Given the description of an element on the screen output the (x, y) to click on. 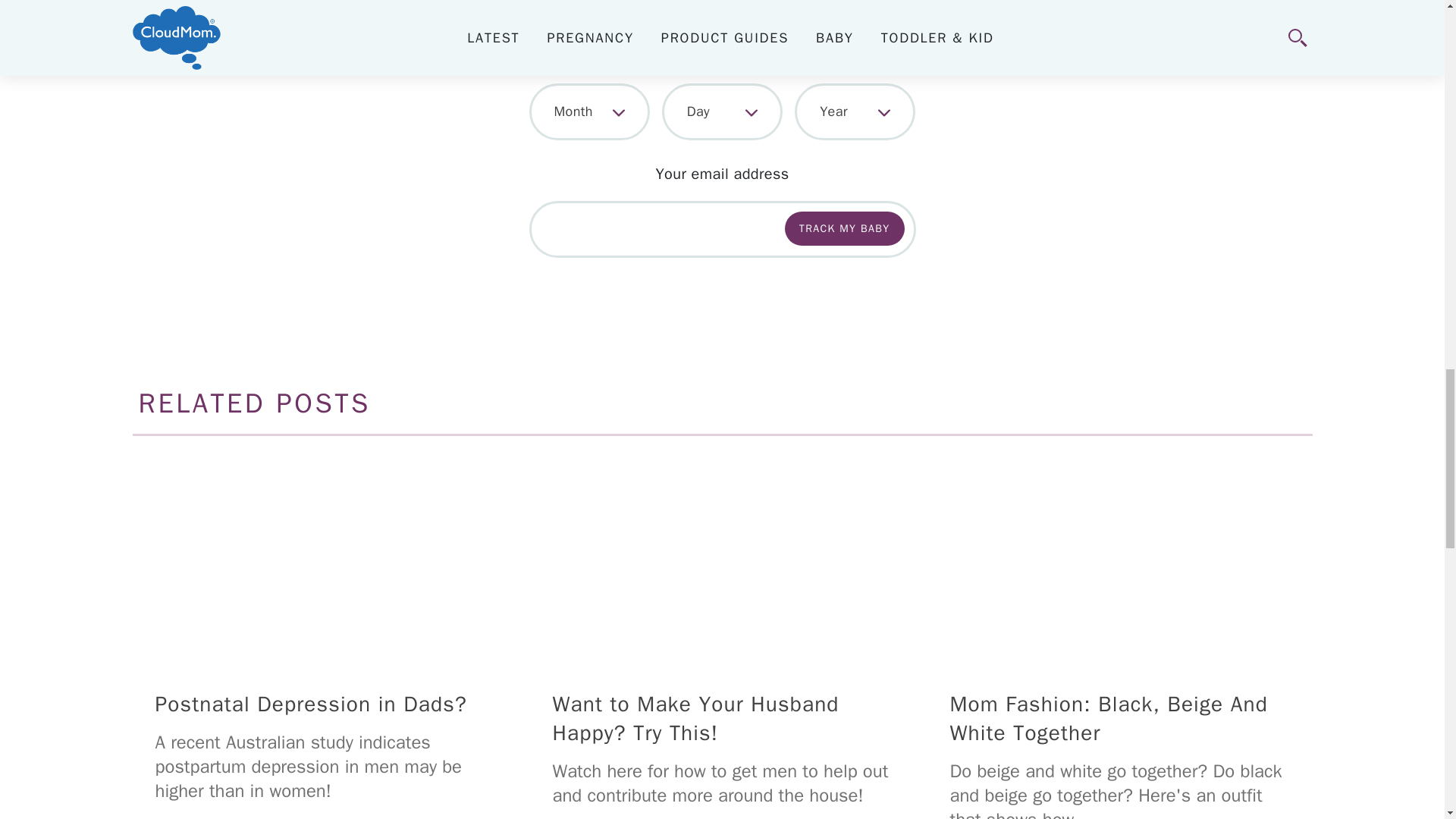
Postnatal Depression in Dads? (324, 559)
Mom Fashion: Black, Beige And White Together (1118, 559)
Want to Make Your Husband Happy? Try This! (721, 559)
Track My Baby (844, 228)
